Given the description of an element on the screen output the (x, y) to click on. 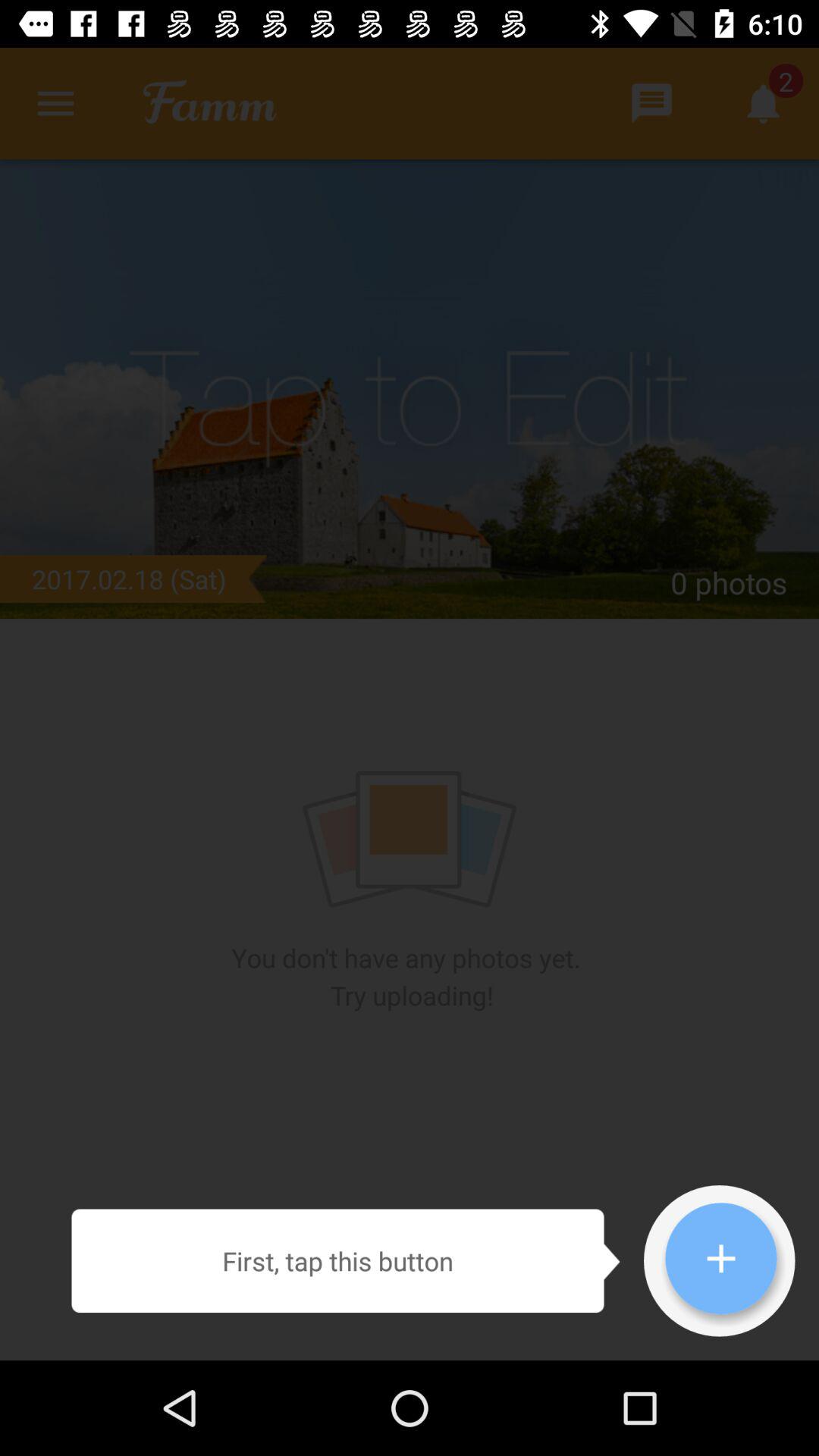
click the notification icon (763, 103)
click on the icon which is at the bottom right corner (721, 1259)
